Given the description of an element on the screen output the (x, y) to click on. 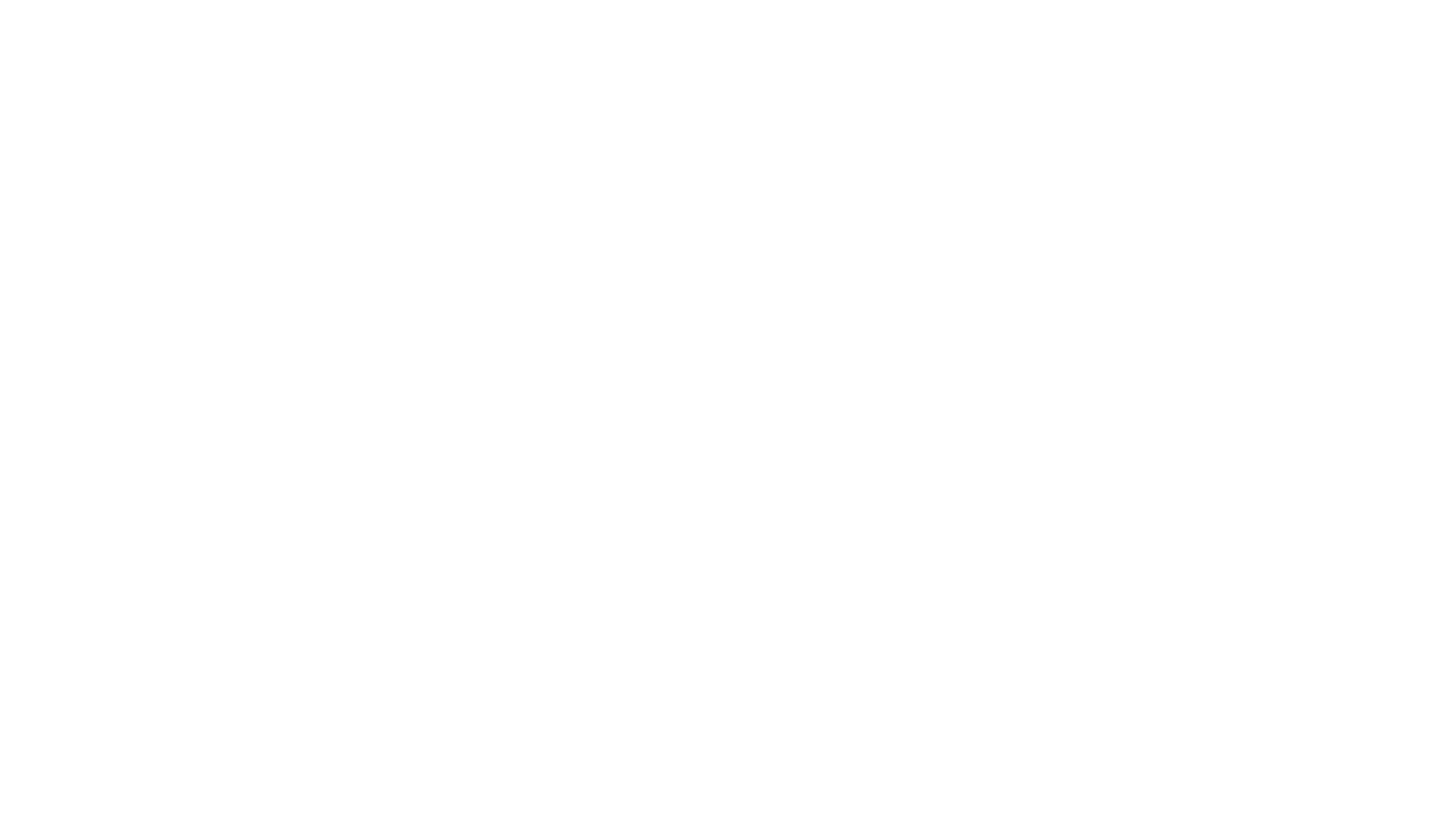
create account Element type: text (1018, 480)
Recover password Element type: text (934, 480)
Register Element type: text (973, 764)
Show/hide password Element type: hover (1124, 399)
OK Element type: text (245, 27)
Recover Element type: text (973, 582)
Mobile version Element type: text (840, 533)
Login Element type: text (973, 444)
